Given the description of an element on the screen output the (x, y) to click on. 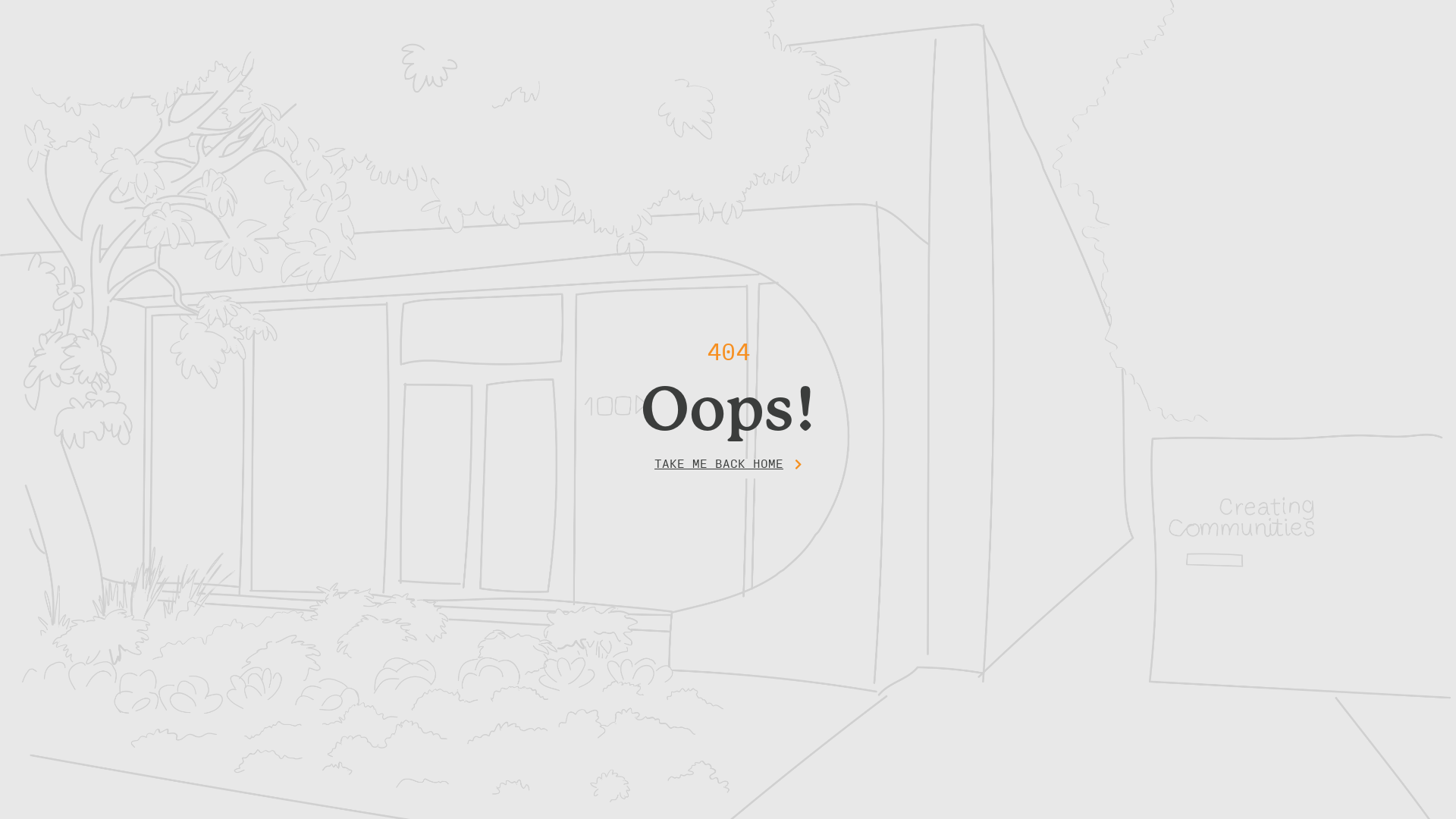
TAKE ME BACK HOME Element type: text (727, 467)
